Given the description of an element on the screen output the (x, y) to click on. 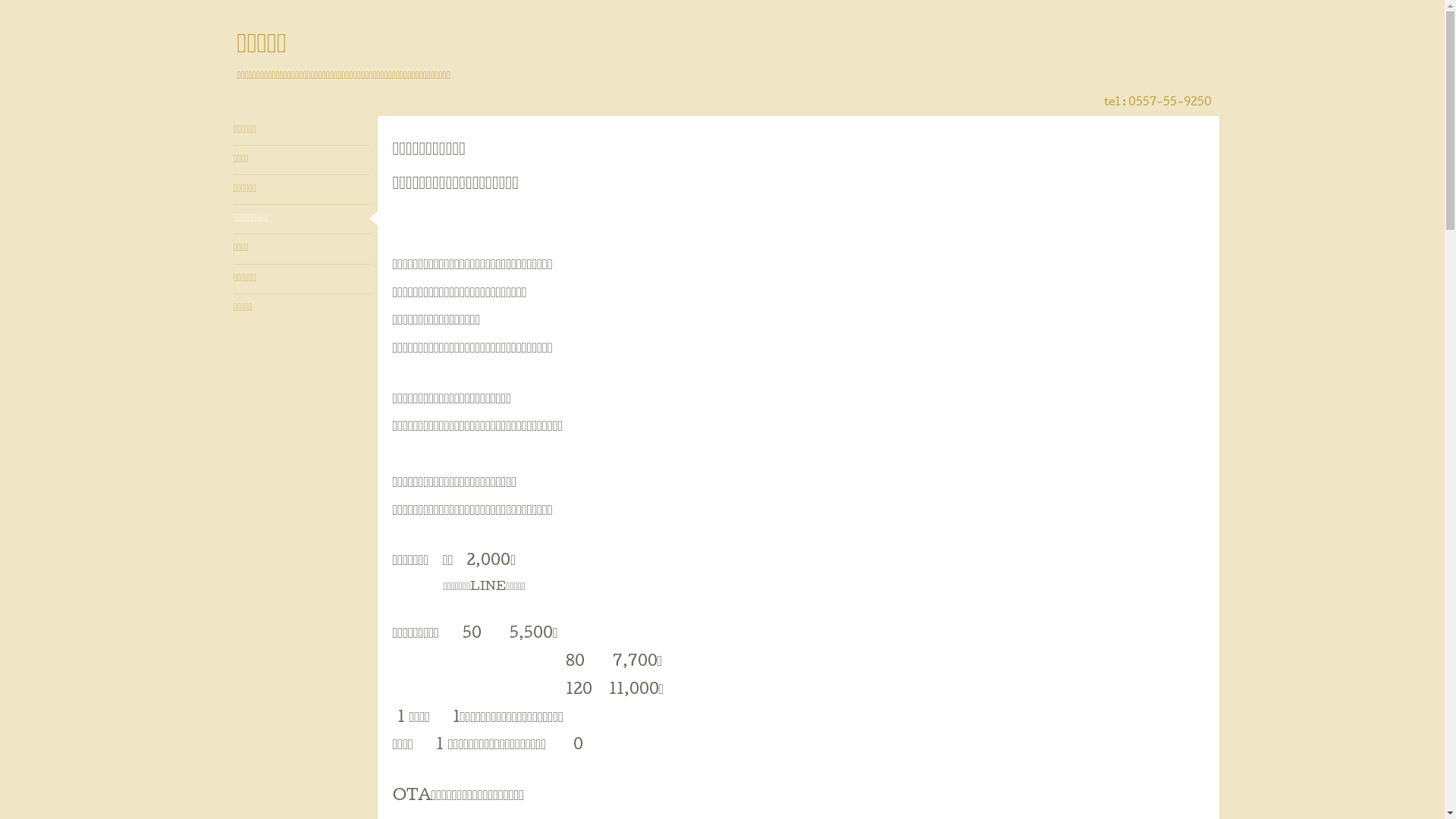
0557-55-9250 Element type: text (1169, 102)
